Given the description of an element on the screen output the (x, y) to click on. 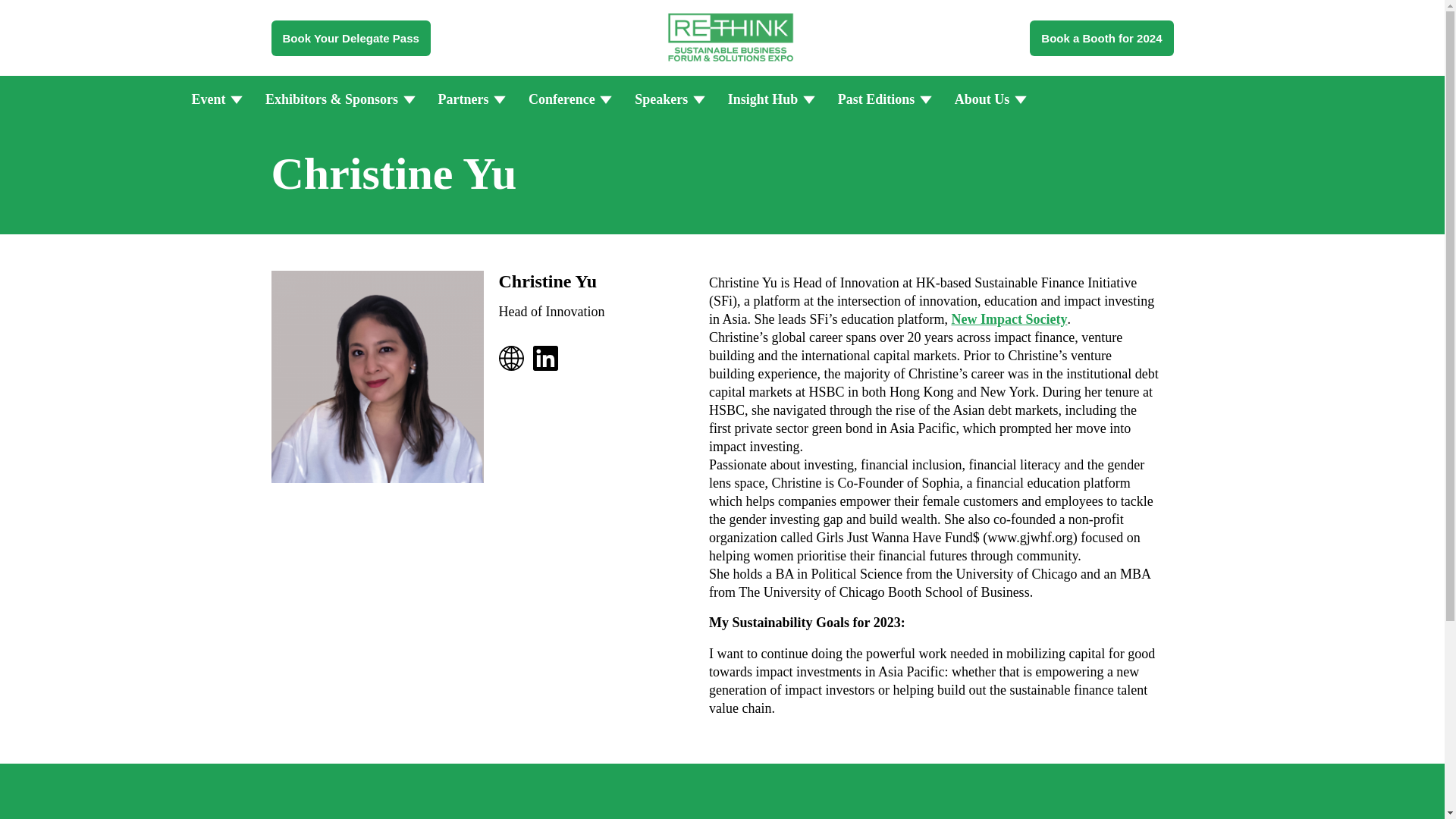
Event (212, 99)
Partners (469, 99)
Book Your Delegate Pass (350, 37)
Conference (567, 99)
Book a Booth for 2024 (1101, 37)
Insight Hub (768, 99)
Speakers (666, 99)
